Given the description of an element on the screen output the (x, y) to click on. 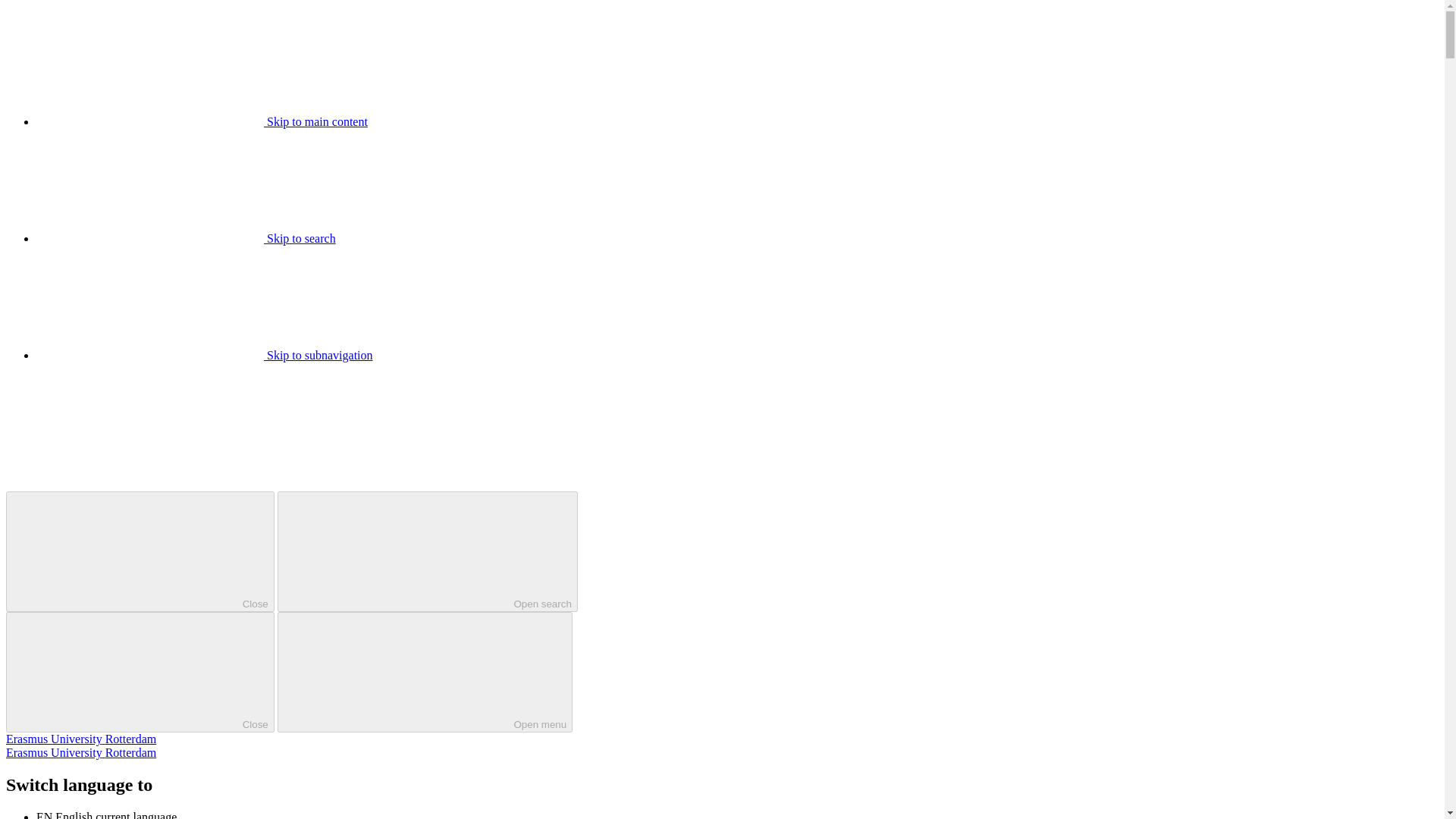
Close (140, 671)
Open menu (425, 671)
Skip to main content (202, 121)
Open search (428, 551)
Skip to search (186, 237)
Erasmus University Rotterdam (80, 738)
Close (140, 551)
Erasmus University Rotterdam (80, 752)
Skip to subnavigation (204, 354)
